Given the description of an element on the screen output the (x, y) to click on. 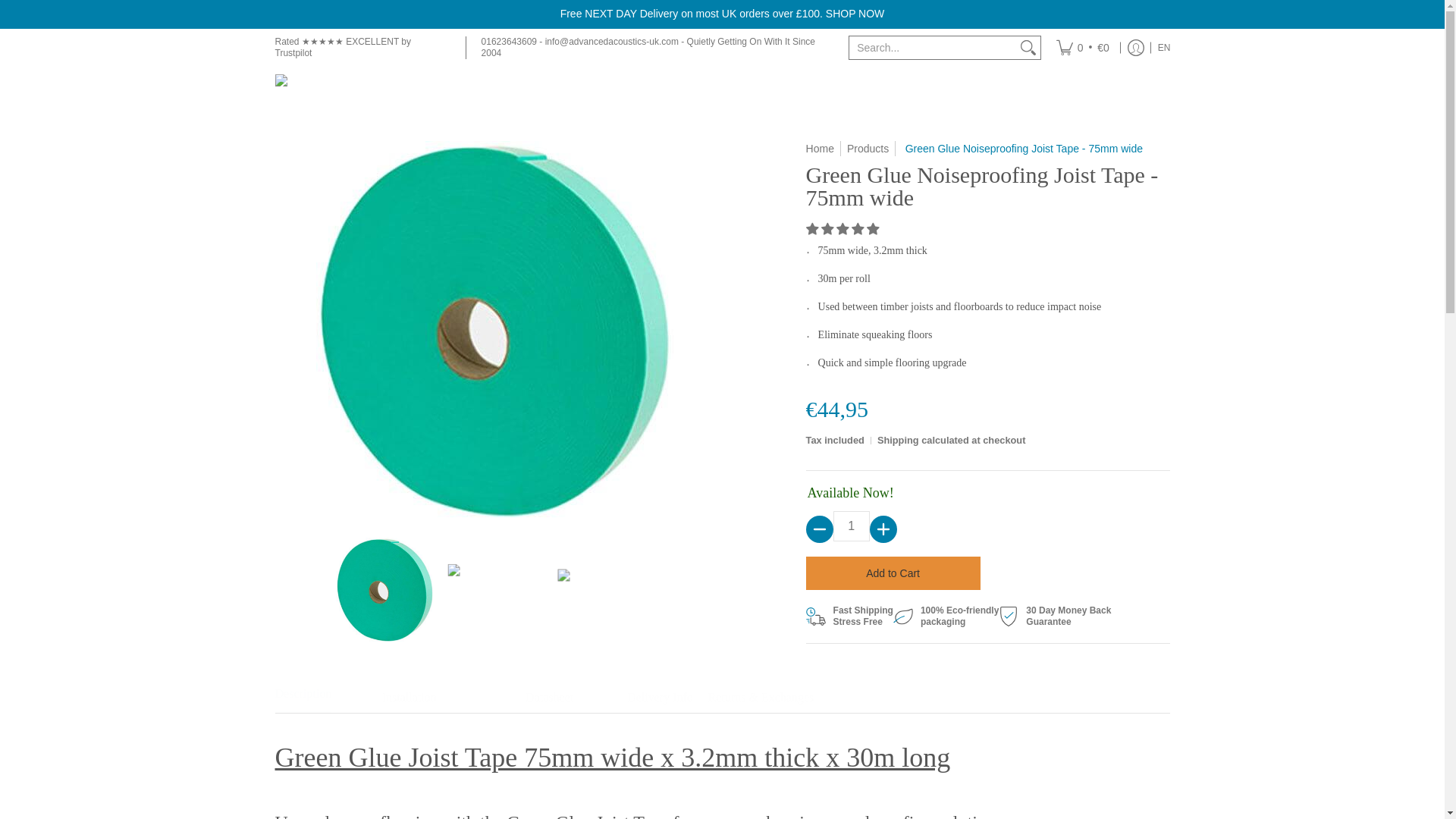
Skip to Main Content (1, 8)
Cart (1083, 47)
Skip to Main Content (1, 8)
1 (850, 526)
EN (1164, 47)
Advanced Acoustics (369, 88)
Log in (1136, 47)
